Given the description of an element on the screen output the (x, y) to click on. 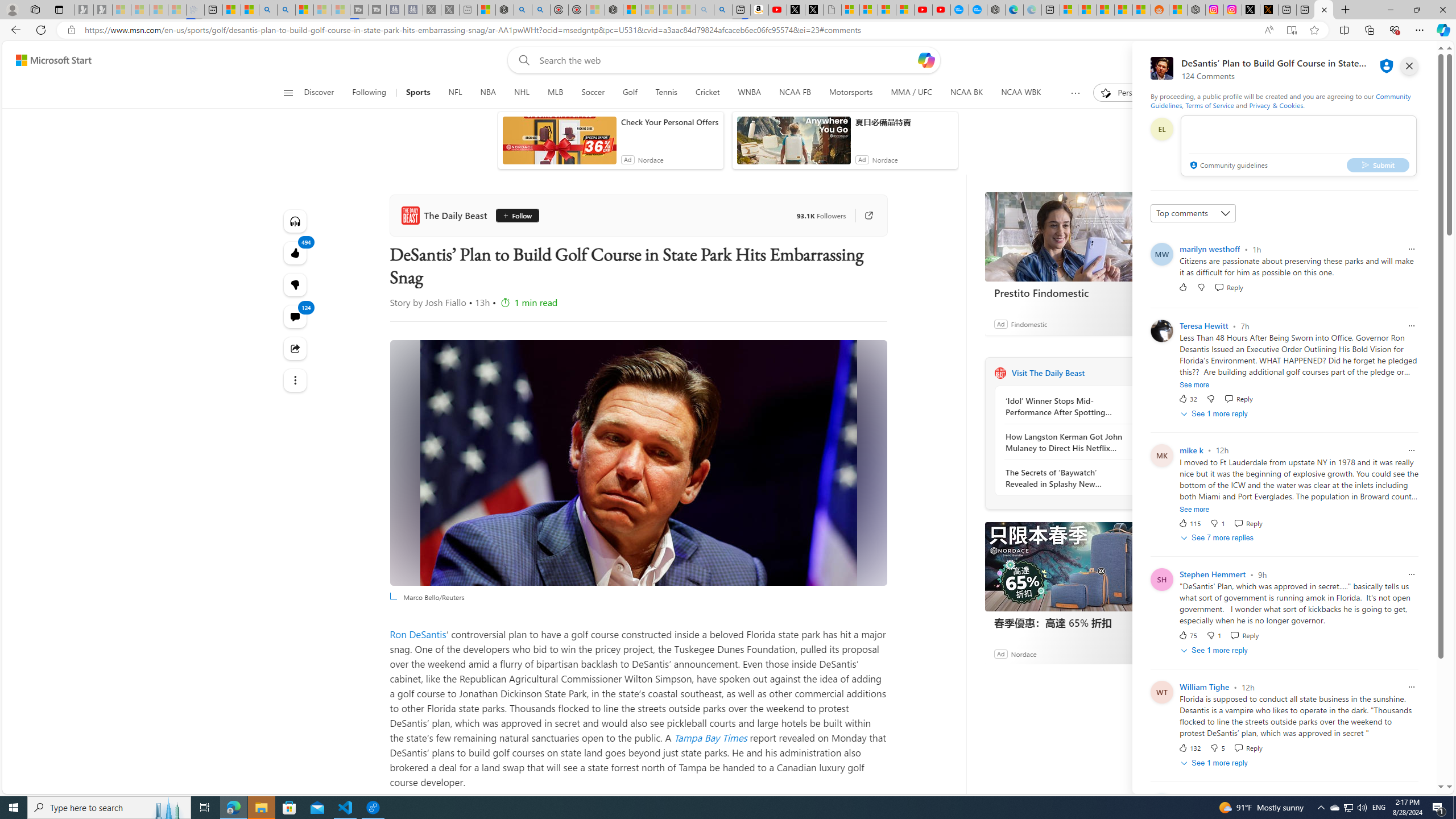
Open navigation menu (287, 92)
Terms of Service (1209, 104)
NCAA FB (794, 92)
MMA / UFC (910, 92)
marilyn westhoff (1209, 248)
Show more topics (1074, 92)
MLB (555, 92)
NFL (455, 92)
